Given the description of an element on the screen output the (x, y) to click on. 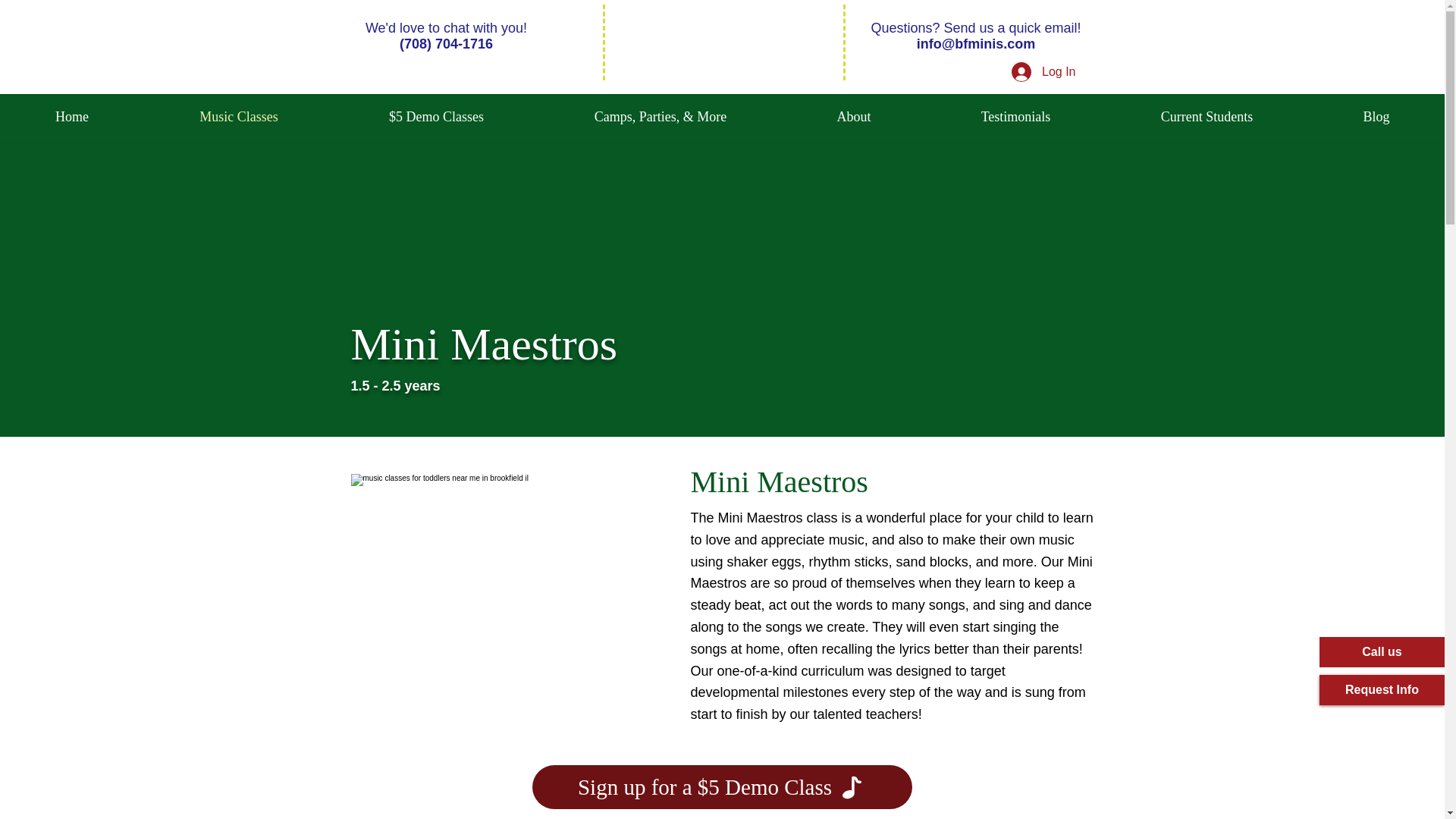
Log In (1043, 71)
Home (72, 117)
Music Classes (238, 117)
Testimonials (1015, 117)
